Given the description of an element on the screen output the (x, y) to click on. 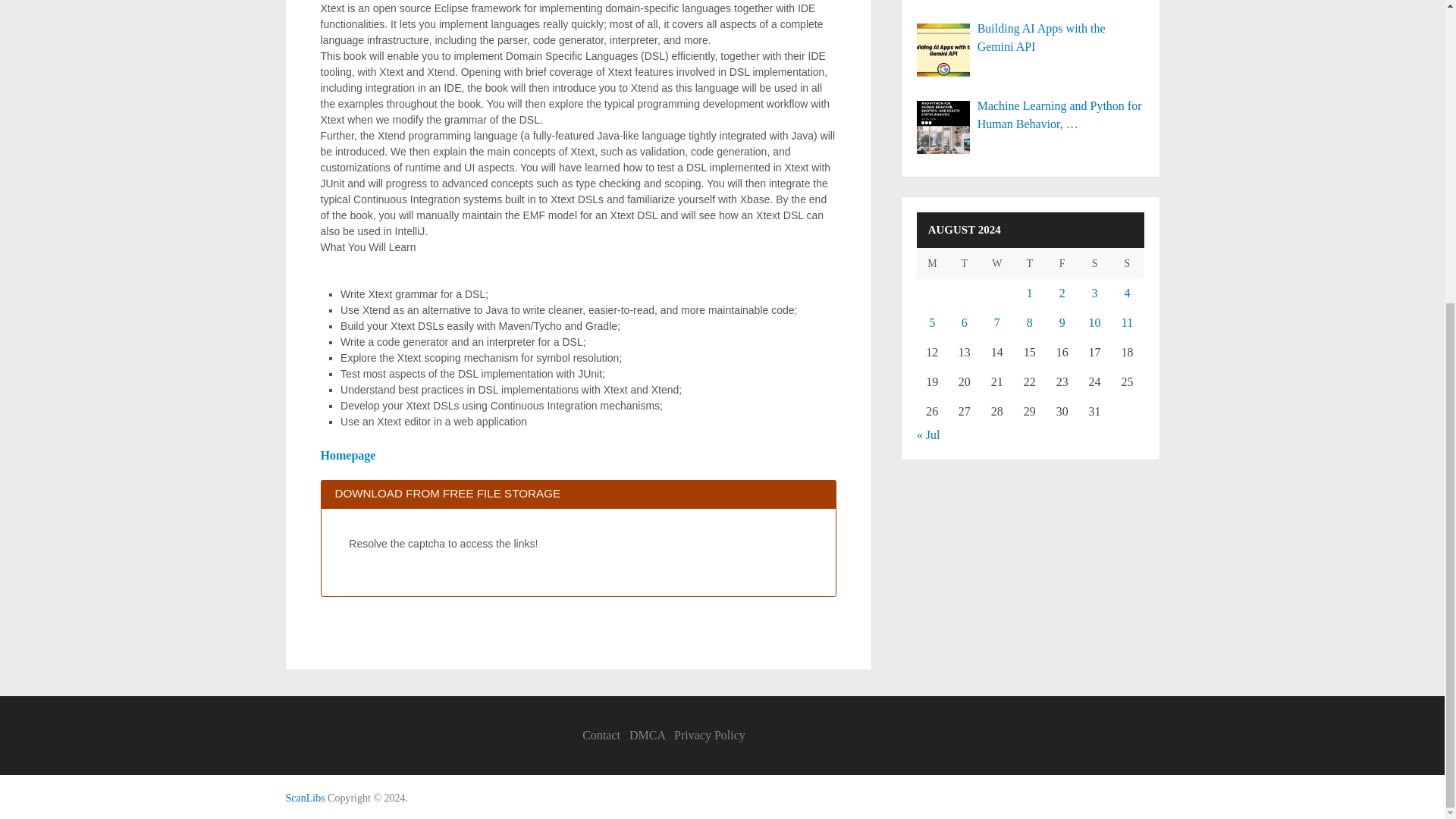
Monday (933, 263)
Tuesday (963, 263)
Building AI Apps with the Gemini API (1030, 37)
Wednesday (996, 263)
10 (1094, 322)
Privacy Policy (709, 735)
Contact (601, 735)
Thursday (1029, 263)
DMCA (646, 735)
Homepage (347, 454)
